Given the description of an element on the screen output the (x, y) to click on. 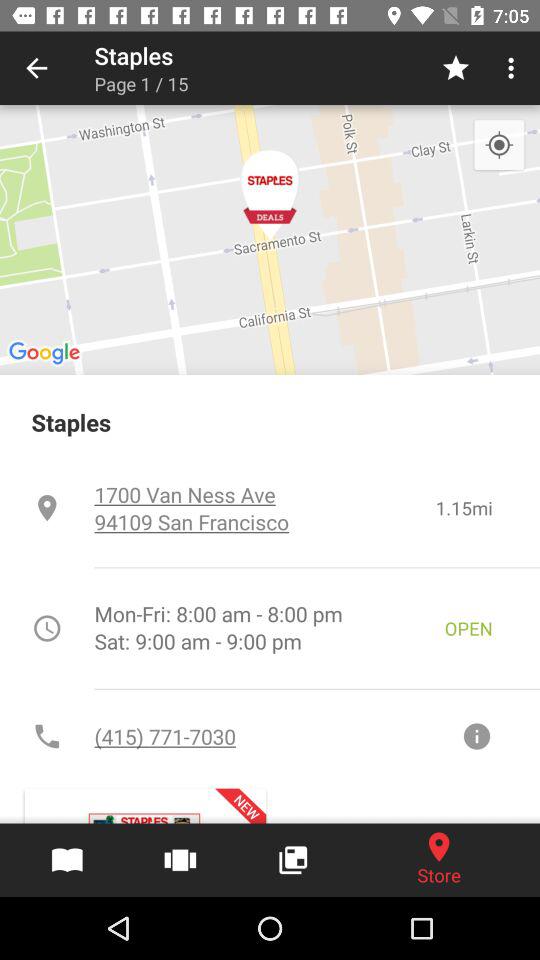
open icon above staples (498, 145)
